Given the description of an element on the screen output the (x, y) to click on. 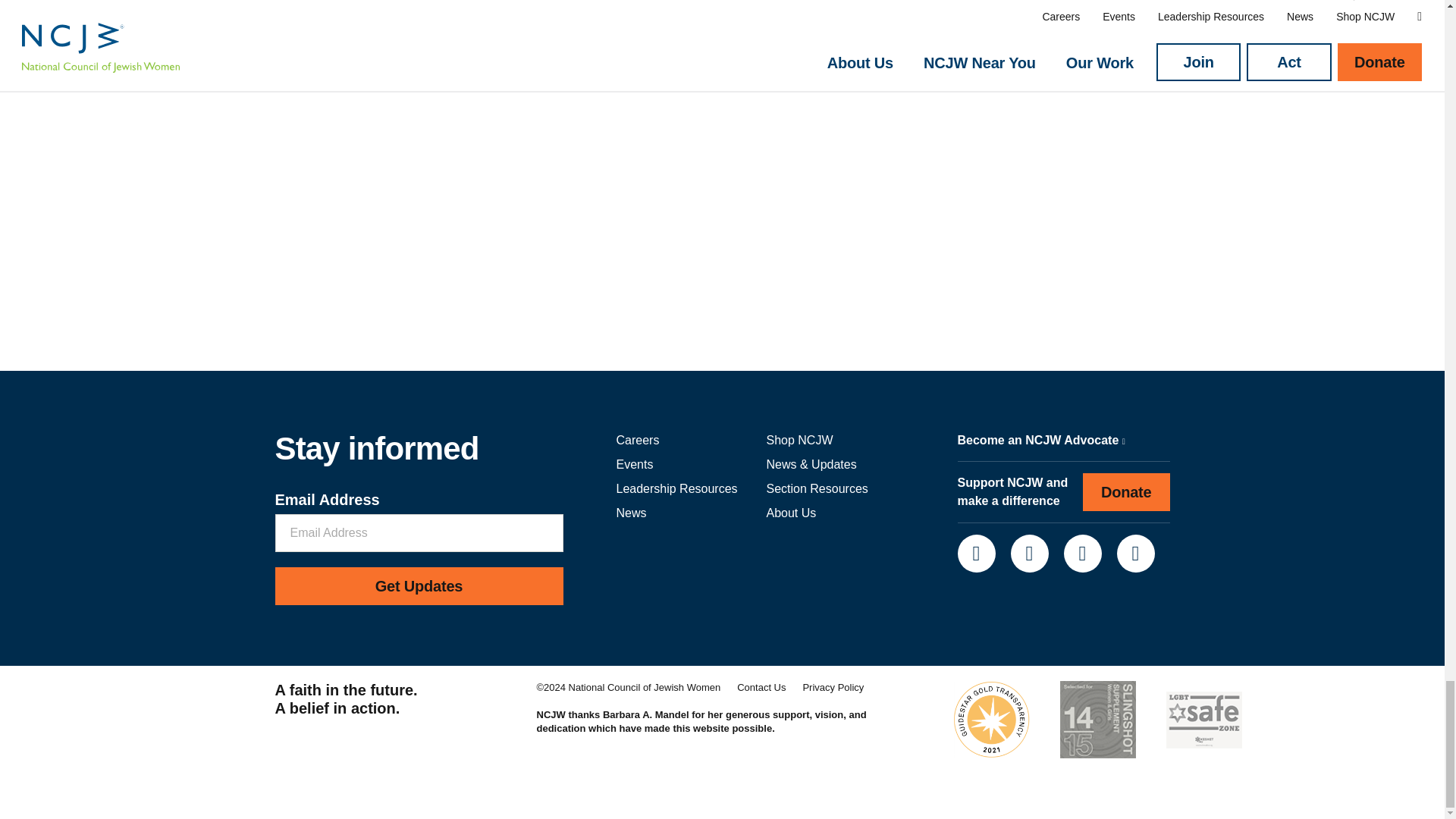
Shop NCJW (798, 440)
News (630, 512)
Careers (637, 440)
About Us (790, 512)
Events (633, 463)
Section Resources (816, 488)
Get Updates (418, 586)
Become an NCJW Advocate (1040, 440)
Leadership Resources (675, 488)
